Given the description of an element on the screen output the (x, y) to click on. 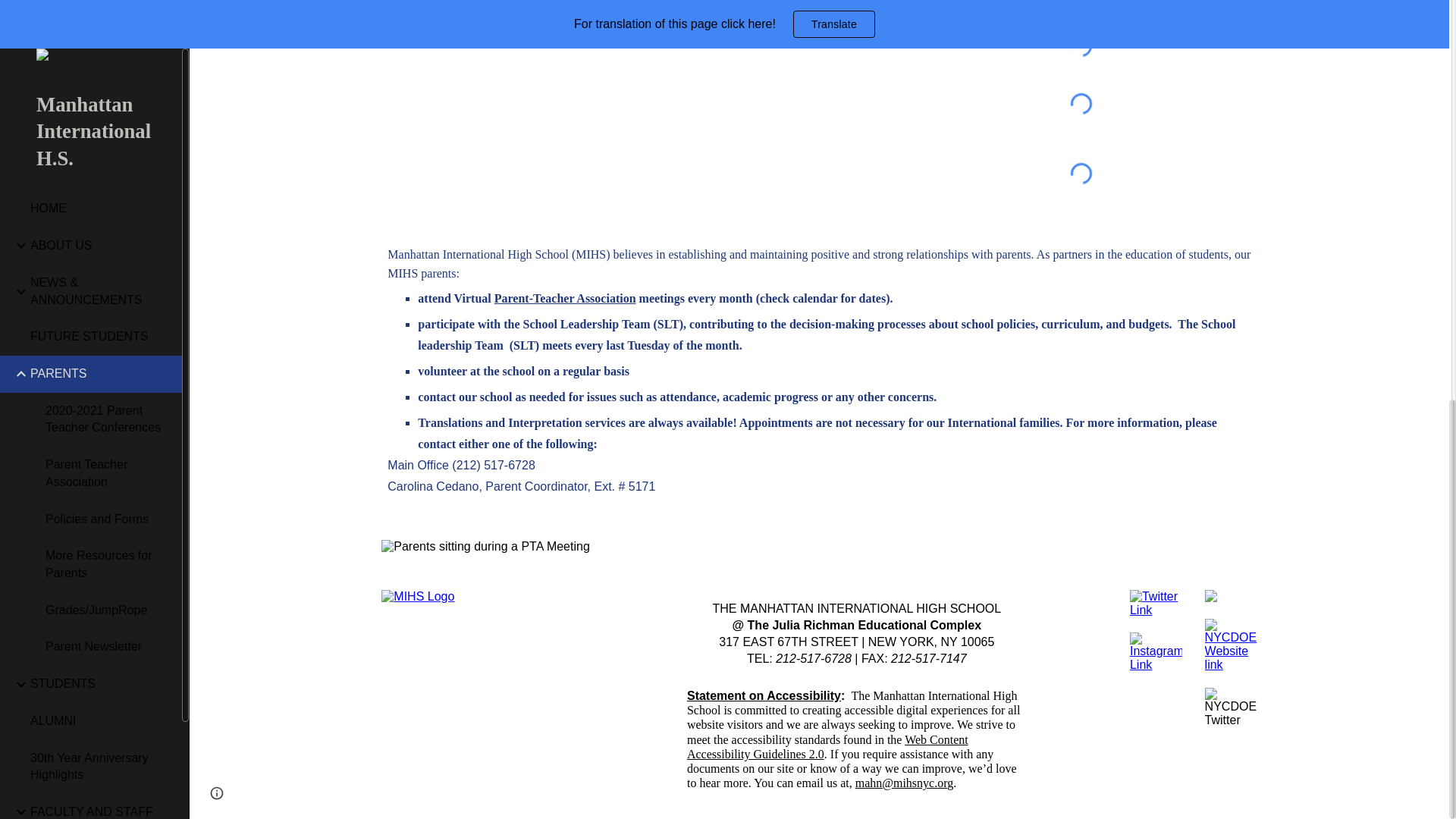
Custom embed (1081, 45)
Custom embed (1081, 103)
Custom embed (1081, 2)
Custom embed (1081, 172)
